Given the description of an element on the screen output the (x, y) to click on. 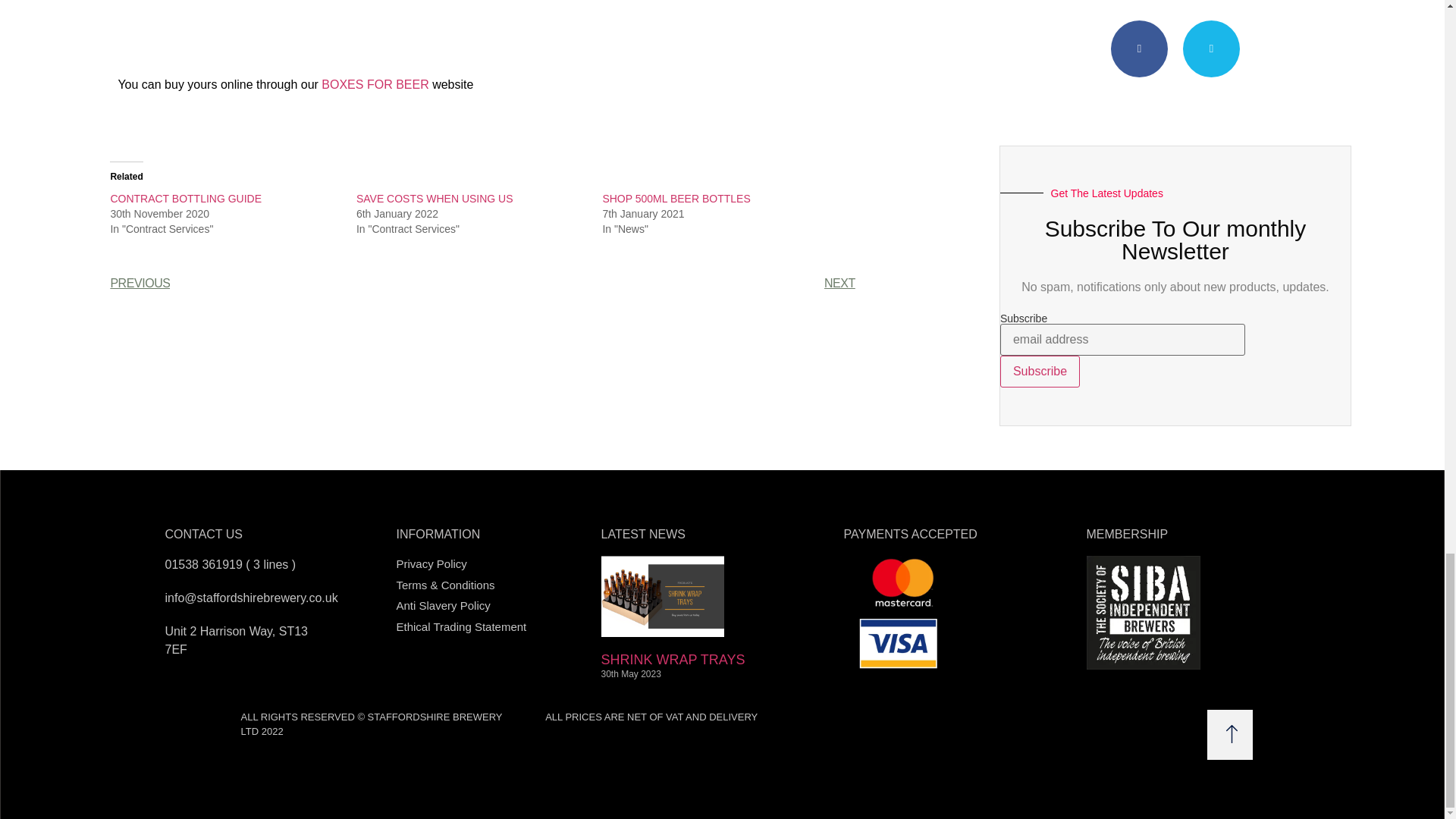
arrow (1231, 733)
SHOP 500ML BEER BOTTLES (675, 198)
SAVE COSTS WHEN USING US (434, 198)
CONTRACT BOTTLING GUIDE (186, 198)
Subscribe (1040, 371)
